Given the description of an element on the screen output the (x, y) to click on. 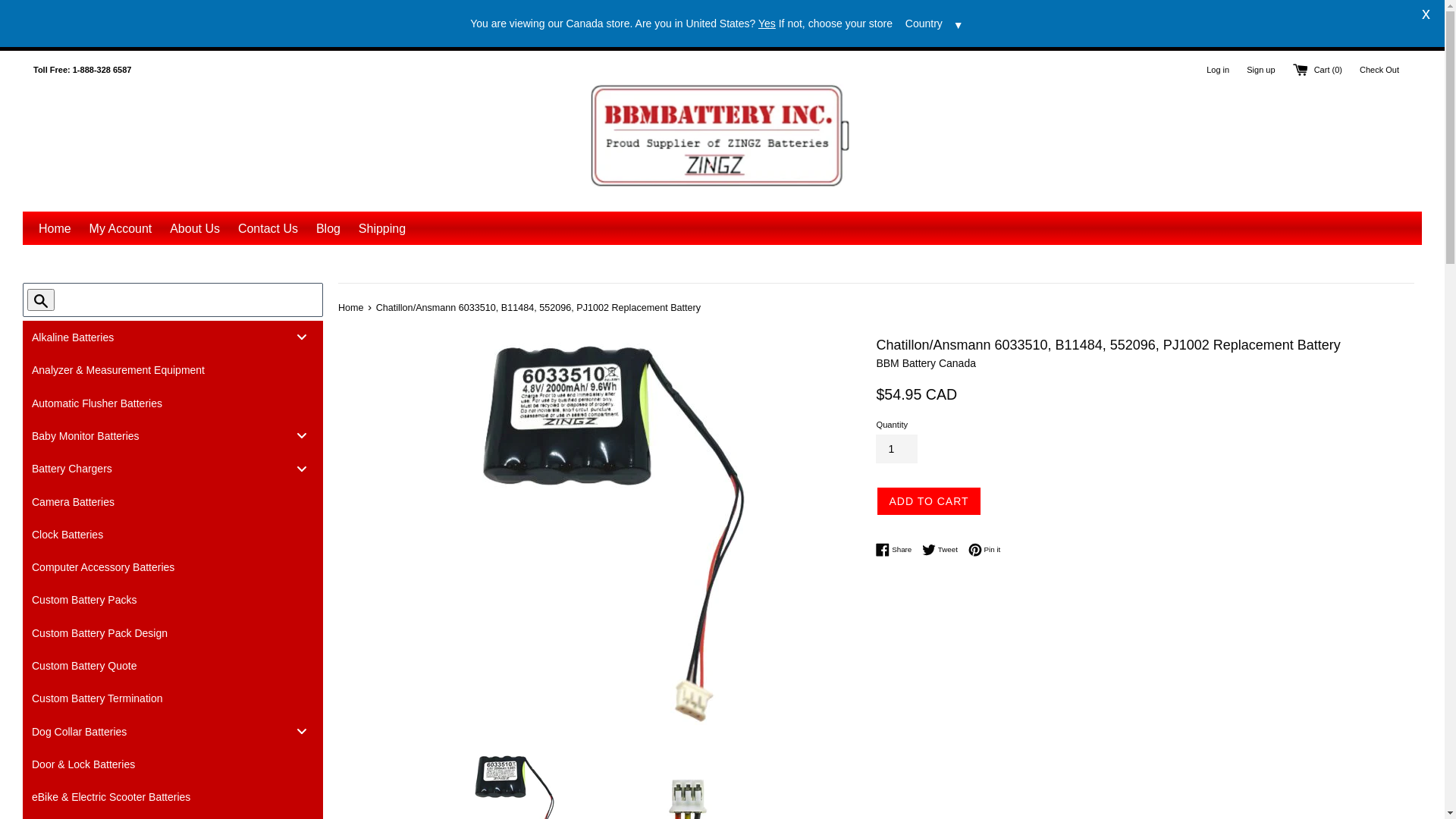
Custom Battery Quote Element type: text (172, 665)
About Us Element type: text (194, 228)
Pin it
Pin on Pinterest Element type: text (984, 549)
Tweet
Tweet on Twitter Element type: text (943, 549)
Log in Element type: text (1217, 69)
Camera Batteries Element type: text (172, 500)
Blog Element type: text (328, 228)
Baby Monitor Batteries Element type: text (172, 435)
My Account Element type: text (120, 228)
Search Element type: text (40, 299)
Alkaline Batteries Element type: text (172, 336)
ADD TO CART Element type: text (928, 501)
Yes Element type: text (766, 23)
Computer Accessory Batteries Element type: text (172, 566)
Shipping Element type: text (381, 228)
Door & Lock Batteries Element type: text (172, 763)
Home Element type: text (352, 307)
Contact Us Element type: text (268, 228)
Sign up Element type: text (1260, 69)
Toggle menu Element type: hover (301, 731)
Share
Share on Facebook Element type: text (897, 549)
Dog Collar Batteries Element type: text (172, 730)
Custom Battery Packs Element type: text (172, 599)
eBike & Electric Scooter Batteries Element type: text (172, 796)
Toggle menu Element type: hover (301, 468)
Home Element type: text (54, 228)
Custom Battery Pack Design Element type: text (172, 631)
Automatic Flusher Batteries Element type: text (172, 401)
Clock Batteries Element type: text (172, 533)
Battery Chargers Element type: text (172, 467)
Analyzer & Measurement Equipment Element type: text (172, 369)
Check Out Element type: text (1379, 69)
Custom Battery Termination Element type: text (172, 697)
Toggle menu Element type: hover (301, 337)
Cart (0) Element type: text (1318, 69)
Toggle menu Element type: hover (301, 435)
